Given the description of an element on the screen output the (x, y) to click on. 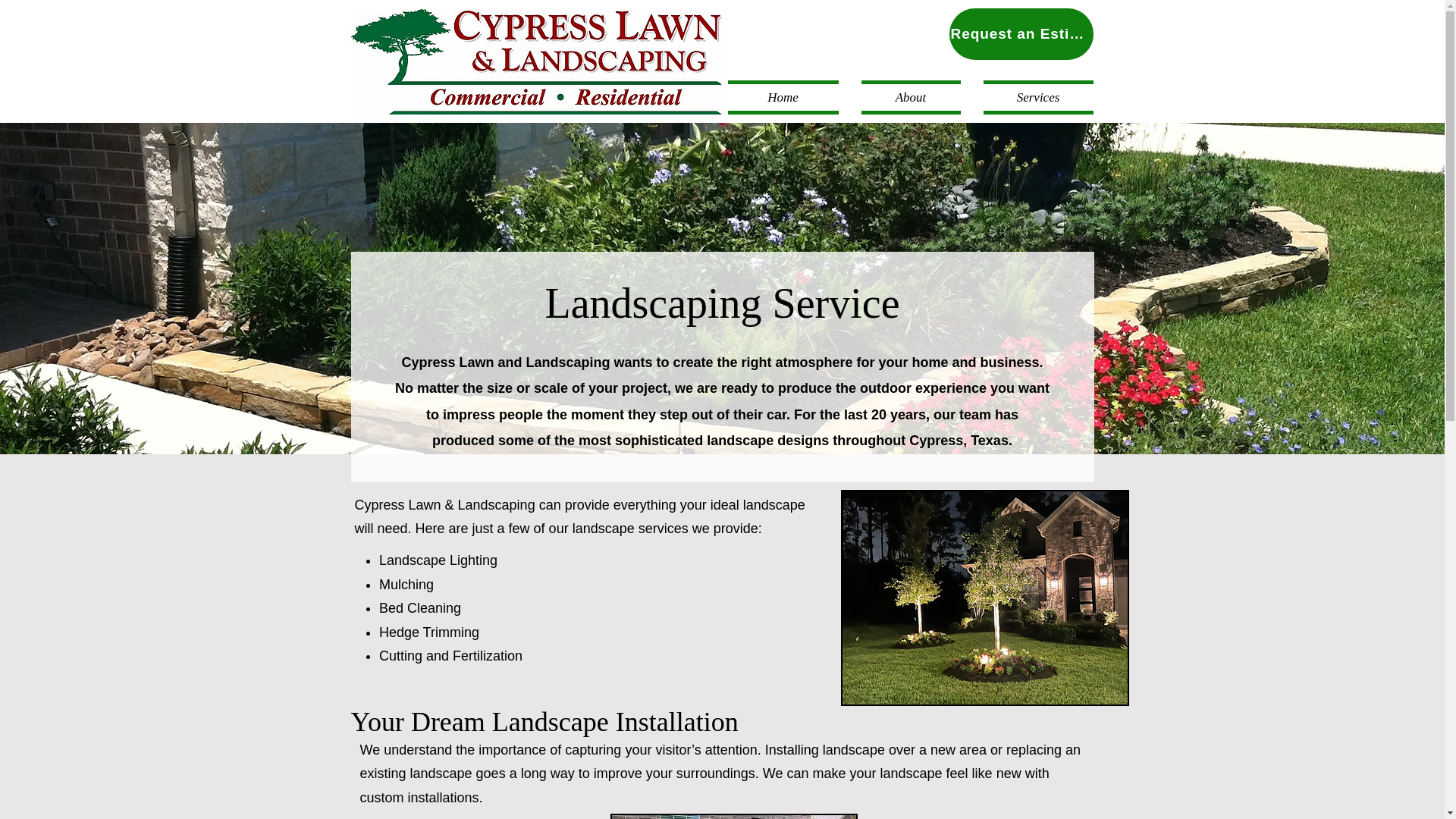
Request an Estimate (1021, 33)
About (909, 97)
Home (789, 97)
